Given the description of an element on the screen output the (x, y) to click on. 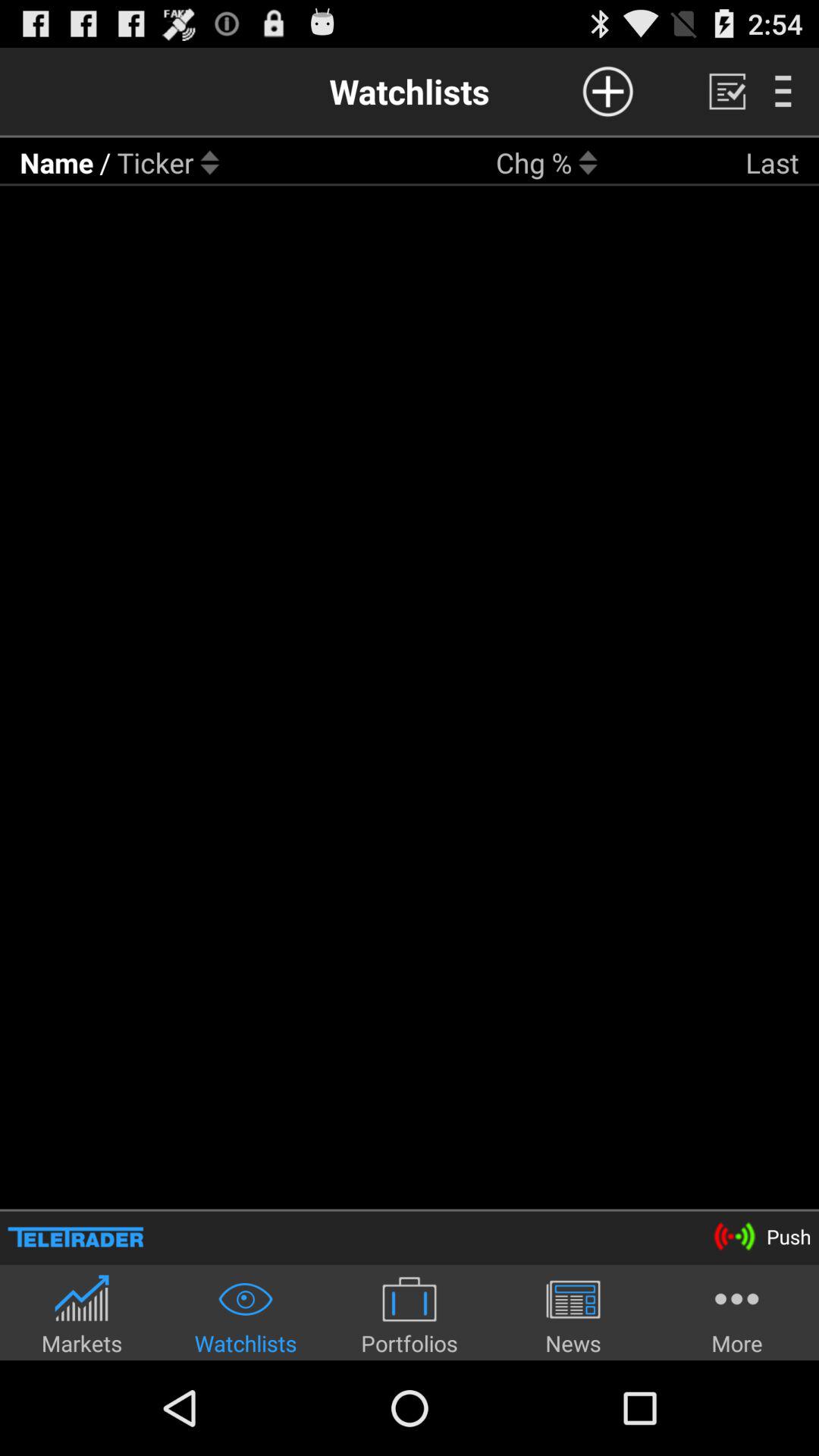
choose icon to the right of the news (737, 1314)
